Given the description of an element on the screen output the (x, y) to click on. 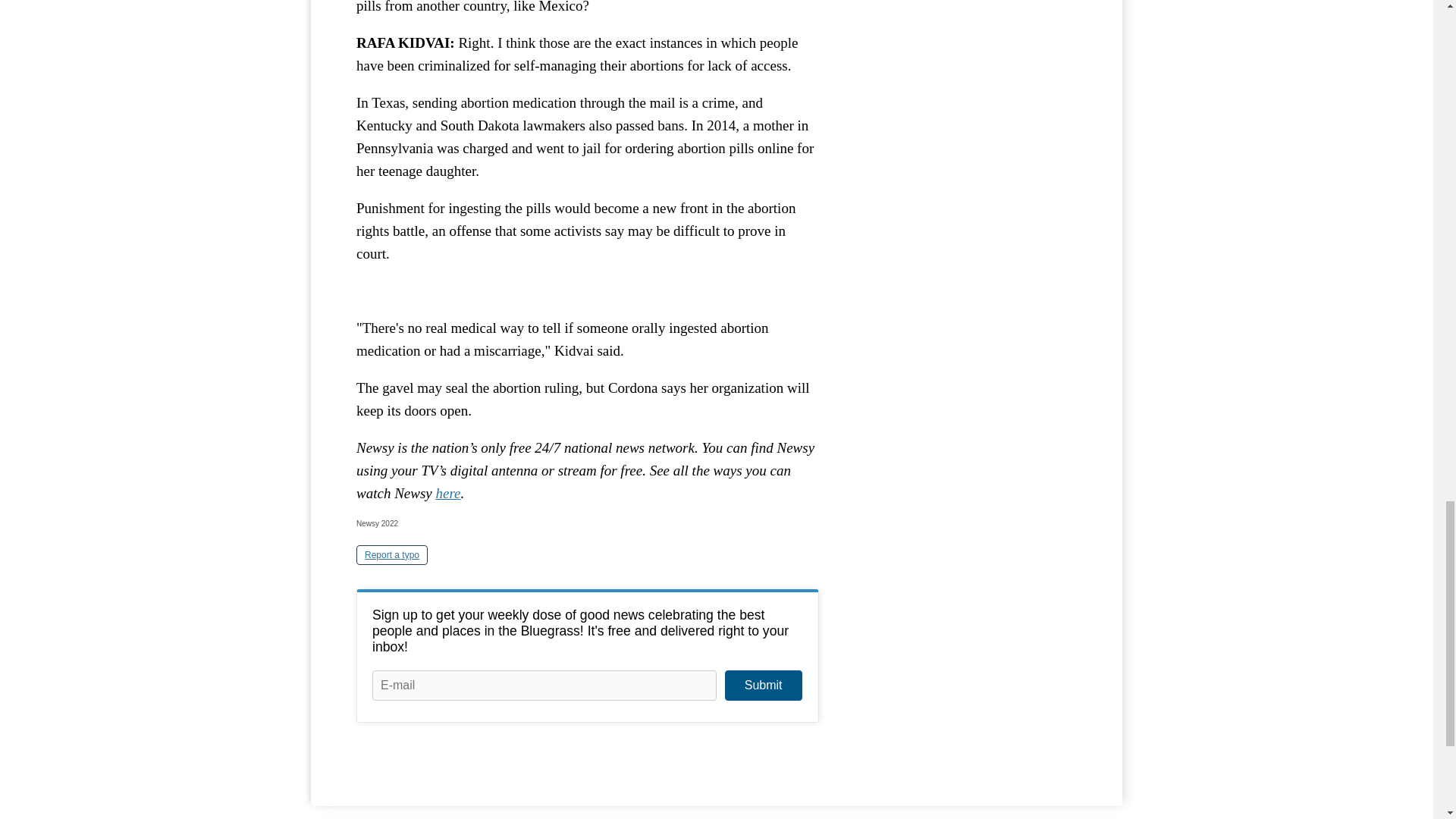
Submit (763, 685)
